Given the description of an element on the screen output the (x, y) to click on. 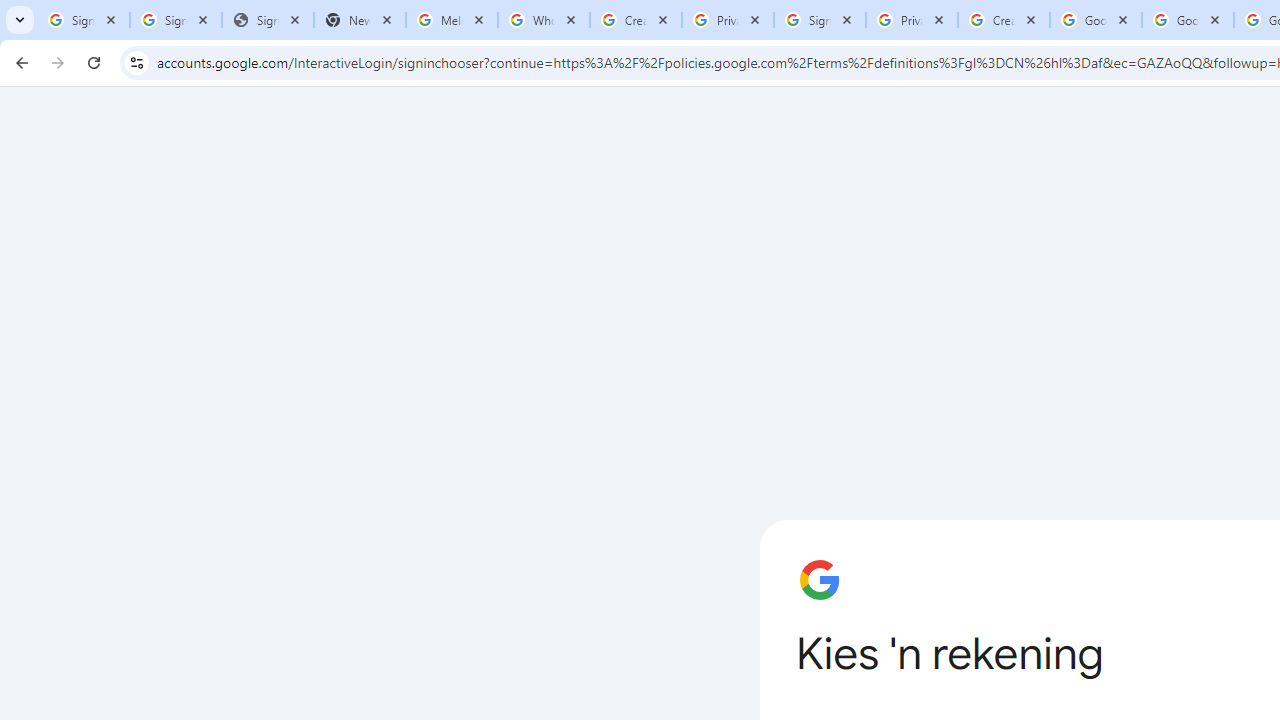
OneDrive (507, 323)
This PC (507, 414)
Folders (984, 224)
New (104, 208)
Back (104, 94)
Info (104, 559)
Get Add-ins (104, 504)
Shared with Me (507, 255)
Recent (507, 184)
Browse (507, 564)
